Given the description of an element on the screen output the (x, y) to click on. 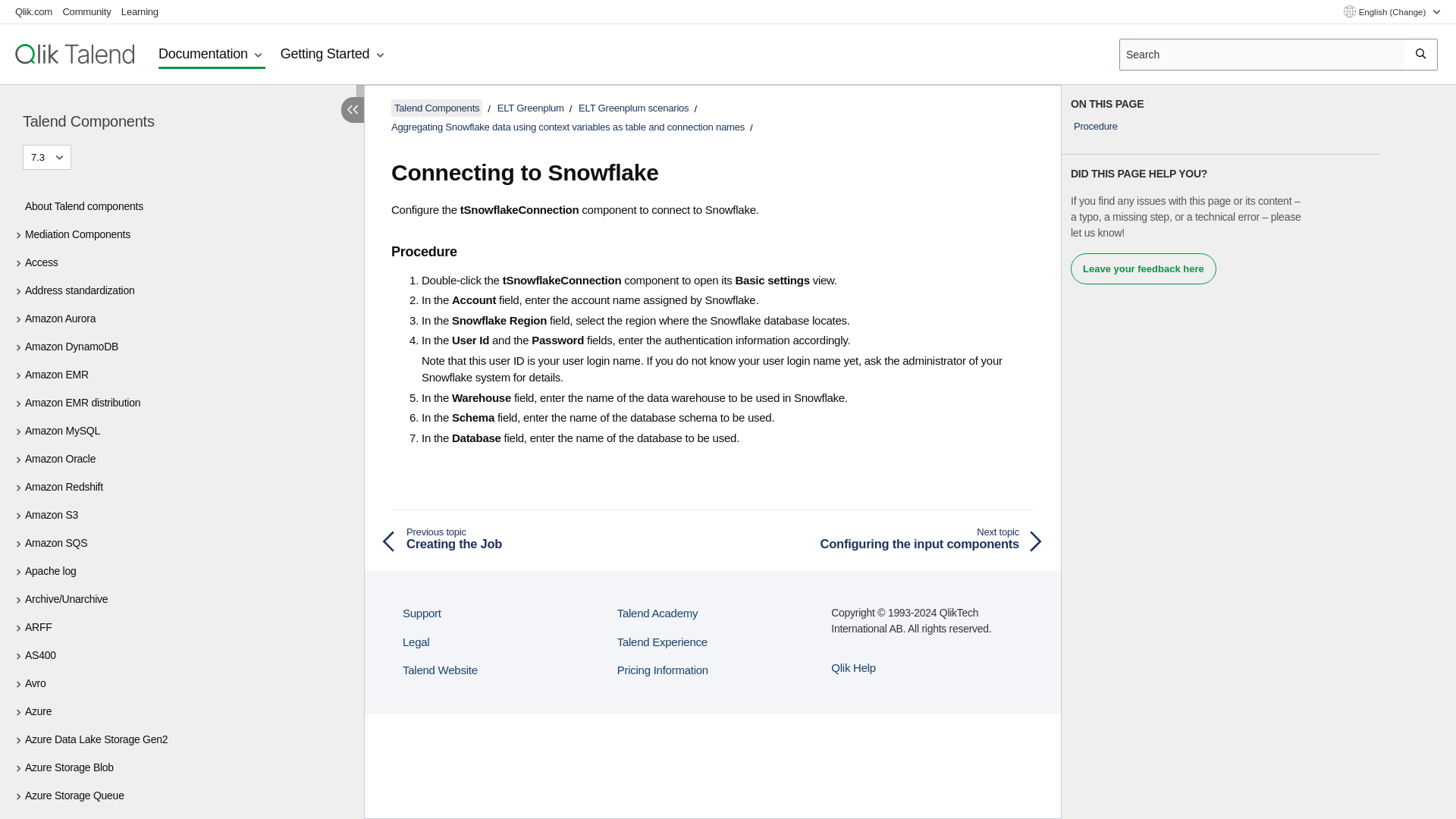
Getting Started (334, 54)
Documentation (211, 54)
Search (1421, 54)
Qlik.com (33, 11)
Community (86, 11)
Learning (139, 11)
